Given the description of an element on the screen output the (x, y) to click on. 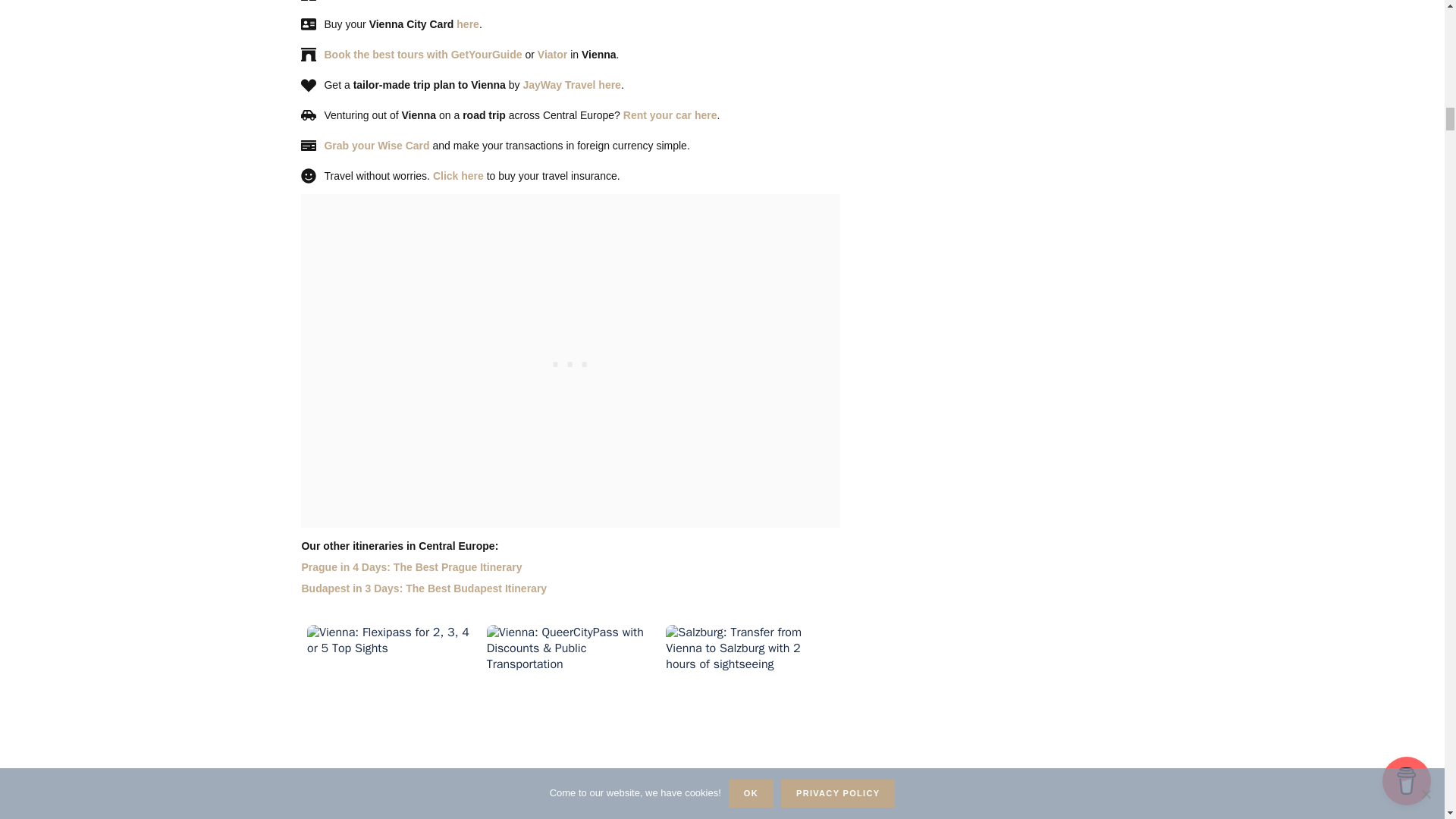
GetYourGuide Widget (570, 719)
